Given the description of an element on the screen output the (x, y) to click on. 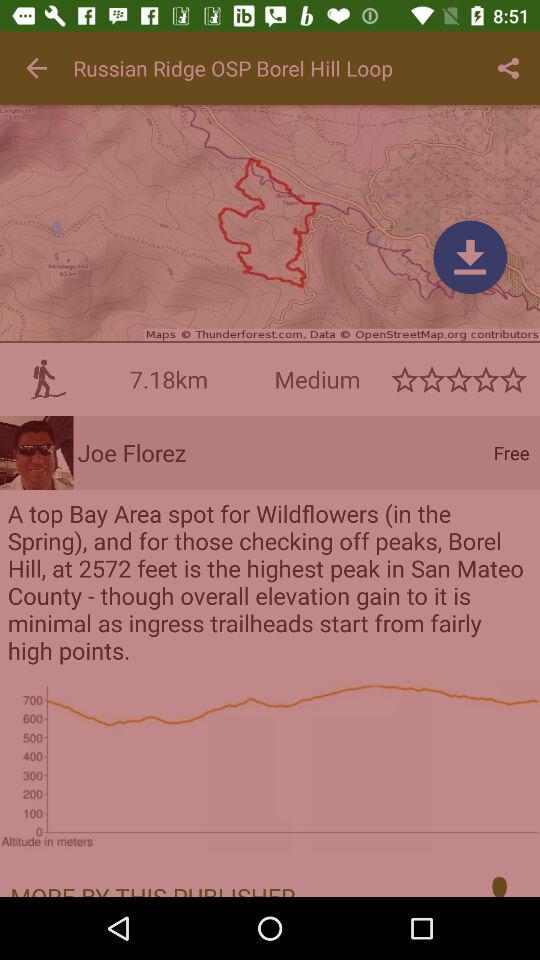
page down (470, 257)
